Given the description of an element on the screen output the (x, y) to click on. 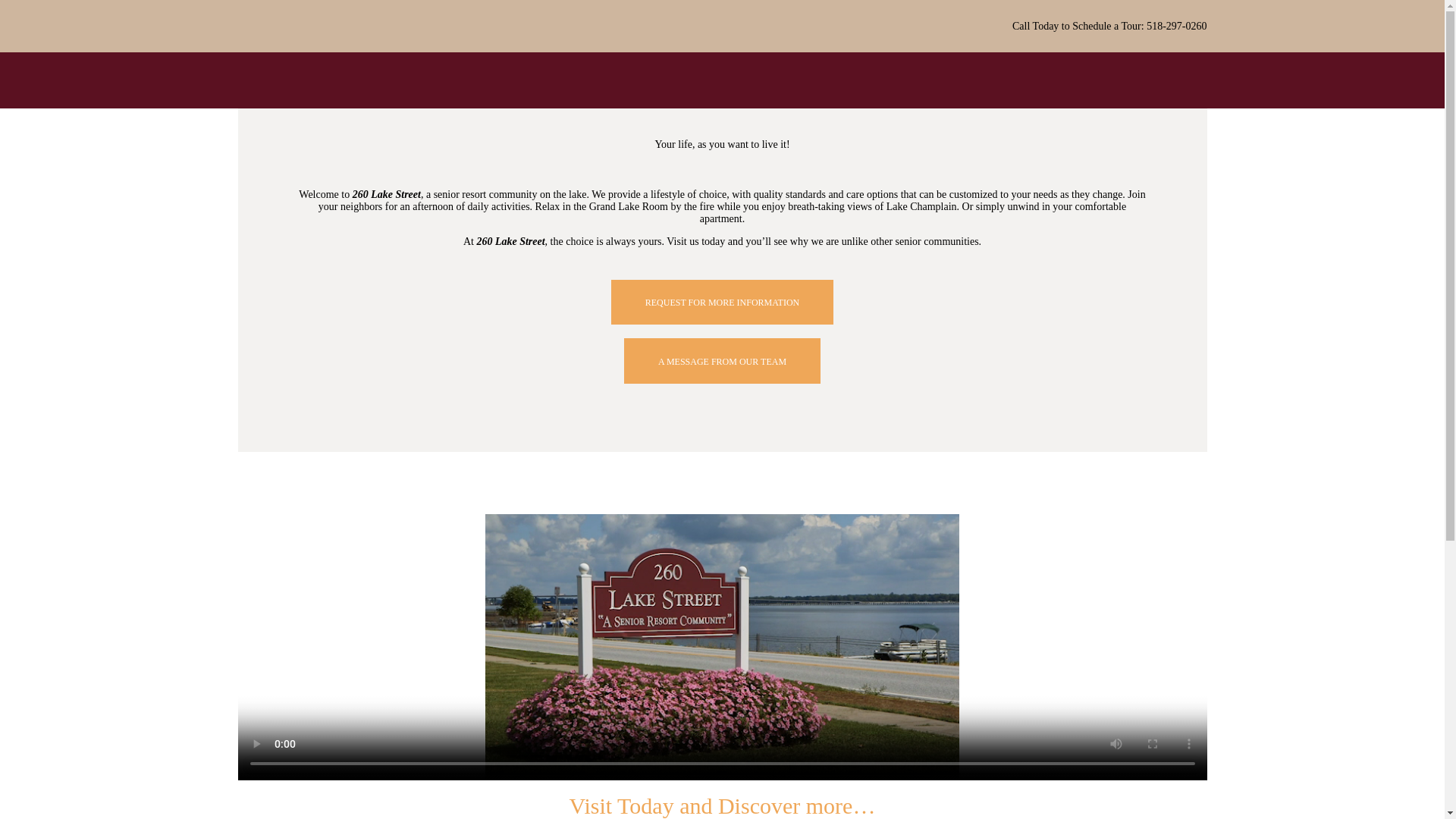
A MESSAGE FROM OUR TEAM Element type: text (722, 360)
REQUEST FOR MORE INFORMATION Element type: text (722, 301)
